Given the description of an element on the screen output the (x, y) to click on. 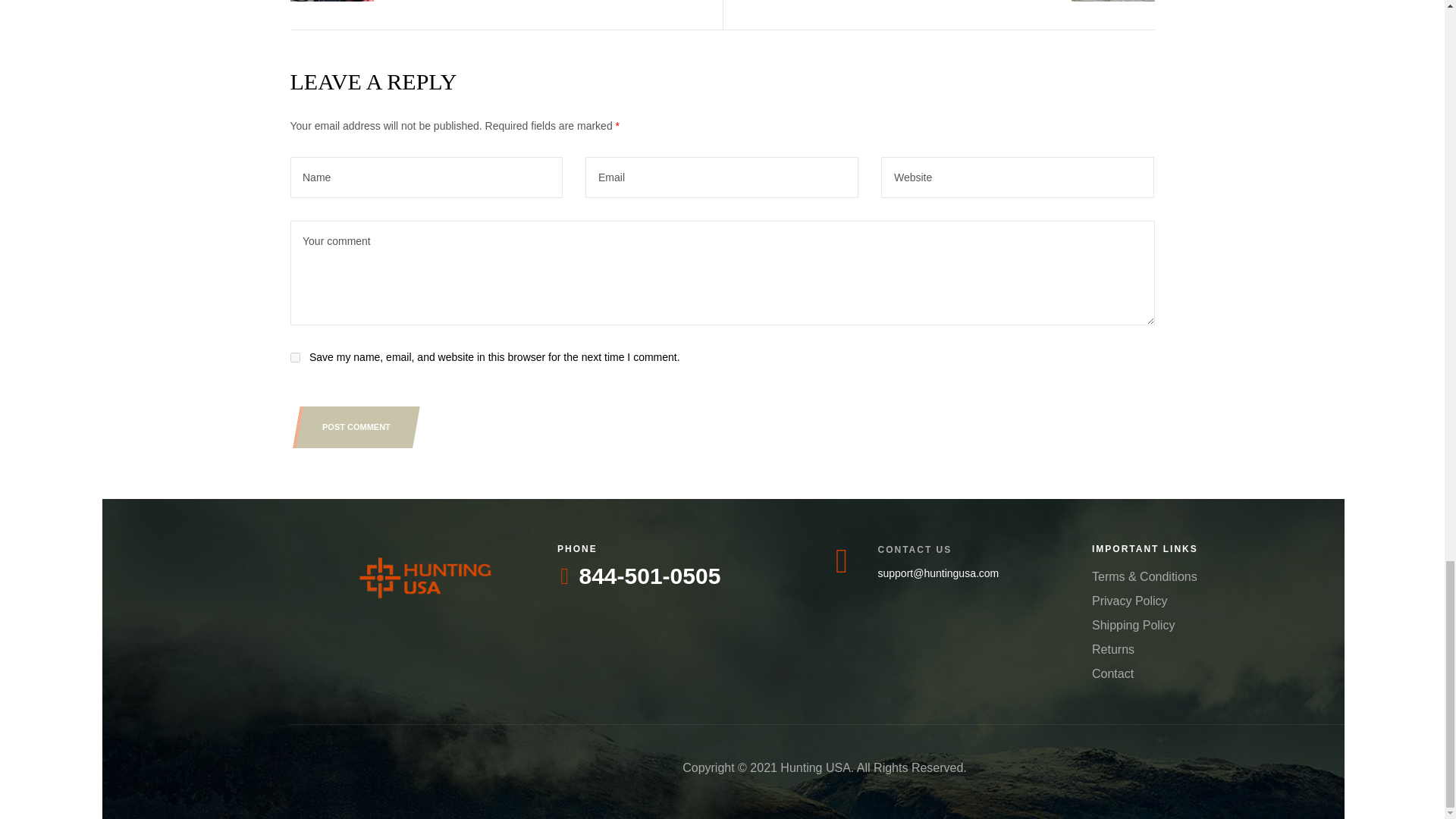
yes (294, 357)
